Given the description of an element on the screen output the (x, y) to click on. 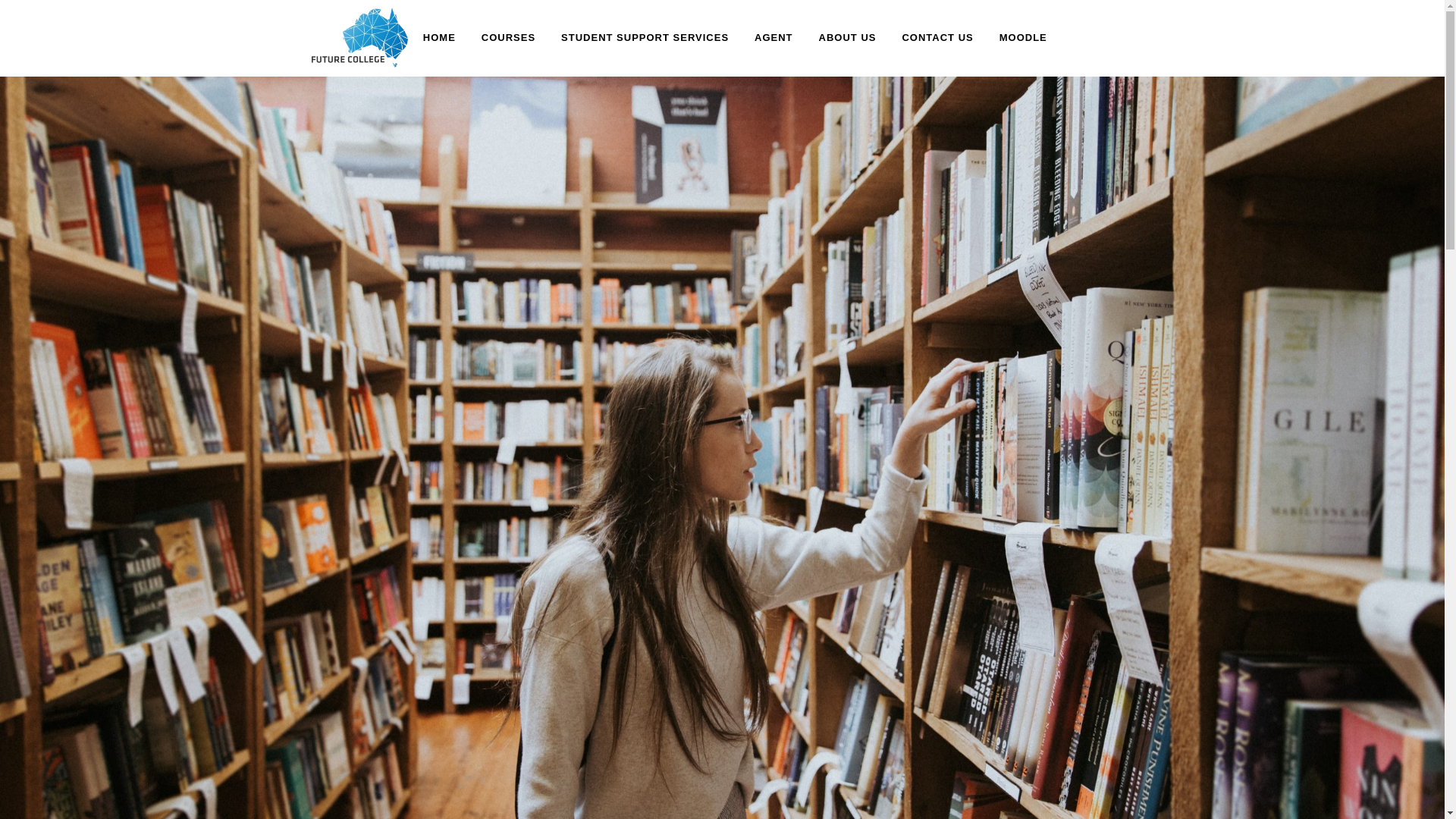
CONTACT US Element type: text (936, 37)
Policies Element type: text (729, 628)
Student Support Services Element type: text (729, 510)
COURSES Element type: text (508, 37)
STUDENT SUPPORT SERVICES Element type: text (644, 37)
VISA information Element type: text (729, 657)
About Us Element type: text (437, 569)
Enrolment Information Element type: text (729, 569)
AGENT Element type: text (773, 37)
Important Links Element type: text (437, 682)
Terms and Conditions of Enrolment Element type: text (729, 687)
ABOUT US Element type: text (847, 37)
Forms Element type: text (729, 598)
Home Element type: text (437, 510)
HOME Element type: text (439, 37)
Enrol Now Element type: text (437, 539)
Pre-Enrolment Information Element type: text (729, 539)
Complaints and Appeals Process Element type: text (729, 717)
MOODLE Element type: text (1023, 37)
Contact Us Element type: text (437, 598)
Marketing Material Element type: text (437, 712)
